Given the description of an element on the screen output the (x, y) to click on. 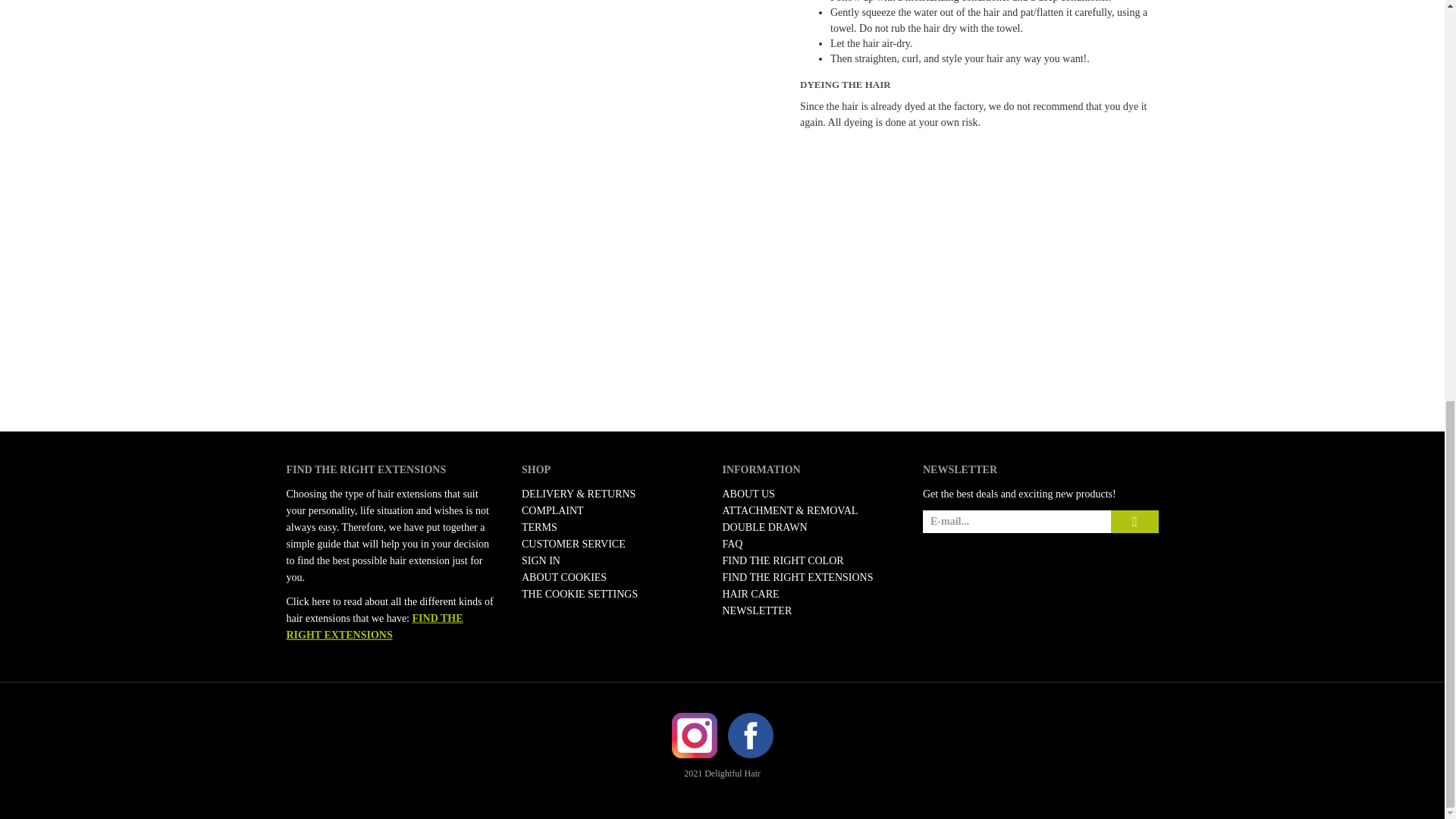
E-mail... (1016, 521)
